Given the description of an element on the screen output the (x, y) to click on. 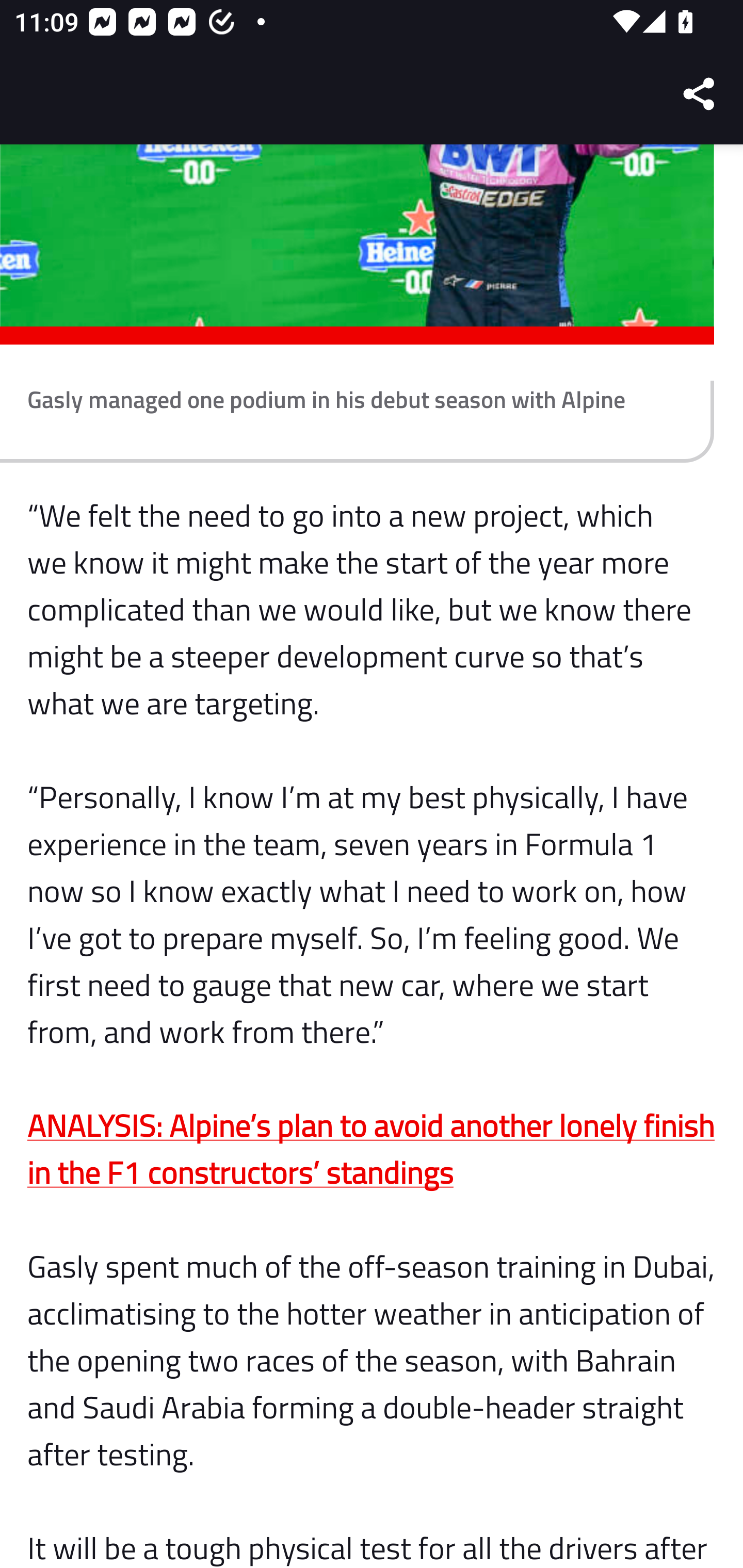
Share (699, 93)
